Given the description of an element on the screen output the (x, y) to click on. 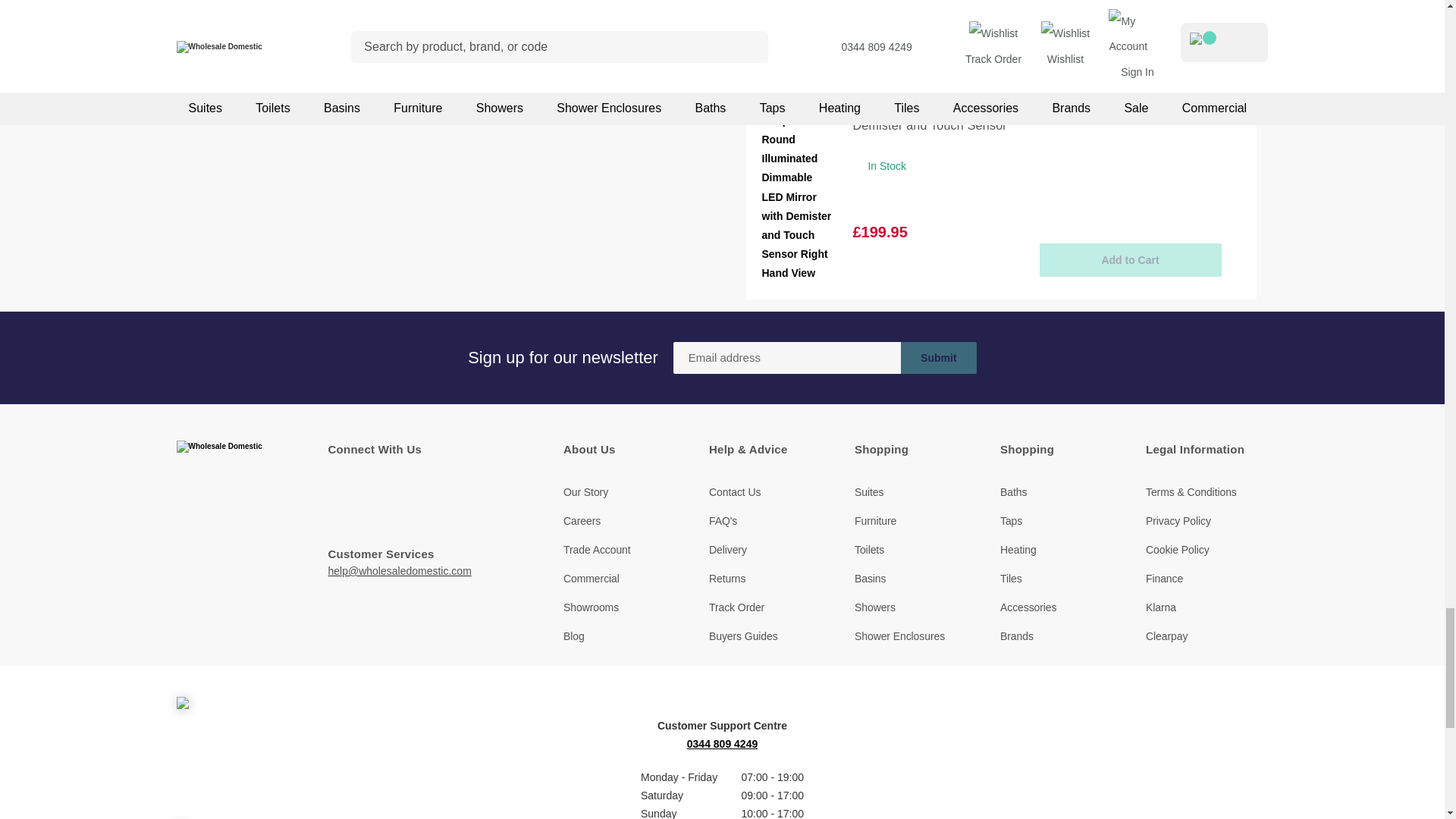
Add to Cart (1130, 259)
Submit (938, 357)
